Given the description of an element on the screen output the (x, y) to click on. 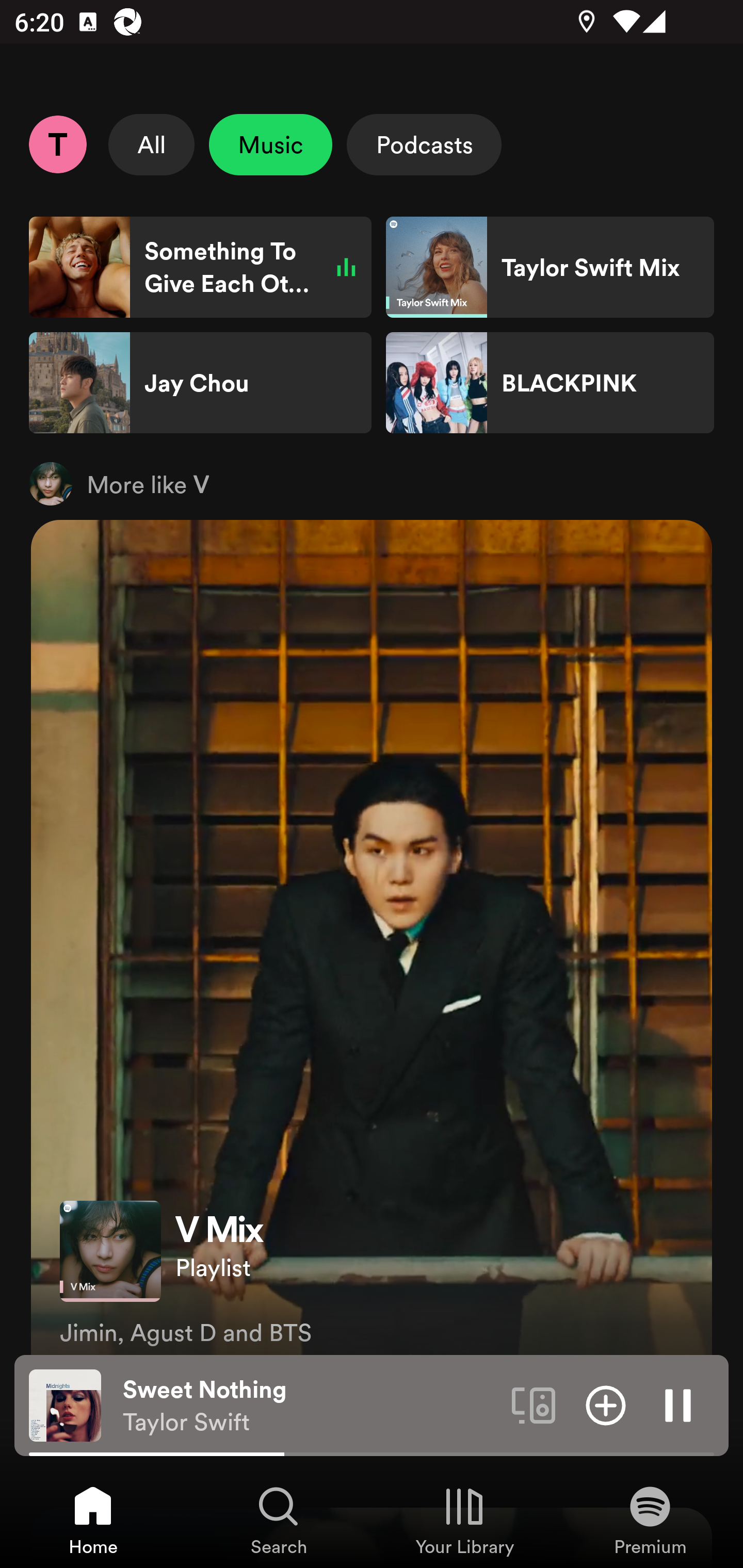
Profile (57, 144)
All Select All (151, 144)
Music Unselect Music (270, 144)
Podcasts Select Podcasts (423, 144)
Taylor Swift Mix Shortcut Taylor Swift Mix (549, 267)
Jay Chou Shortcut Jay Chou (199, 382)
BLACKPINK Shortcut BLACKPINK (549, 382)
More like V (371, 483)
Sweet Nothing Taylor Swift (309, 1405)
The cover art of the currently playing track (64, 1404)
Connect to a device. Opens the devices menu (533, 1404)
Add item (605, 1404)
Pause (677, 1404)
Home, Tab 1 of 4 Home Home (92, 1519)
Search, Tab 2 of 4 Search Search (278, 1519)
Your Library, Tab 3 of 4 Your Library Your Library (464, 1519)
Premium, Tab 4 of 4 Premium Premium (650, 1519)
